Given the description of an element on the screen output the (x, y) to click on. 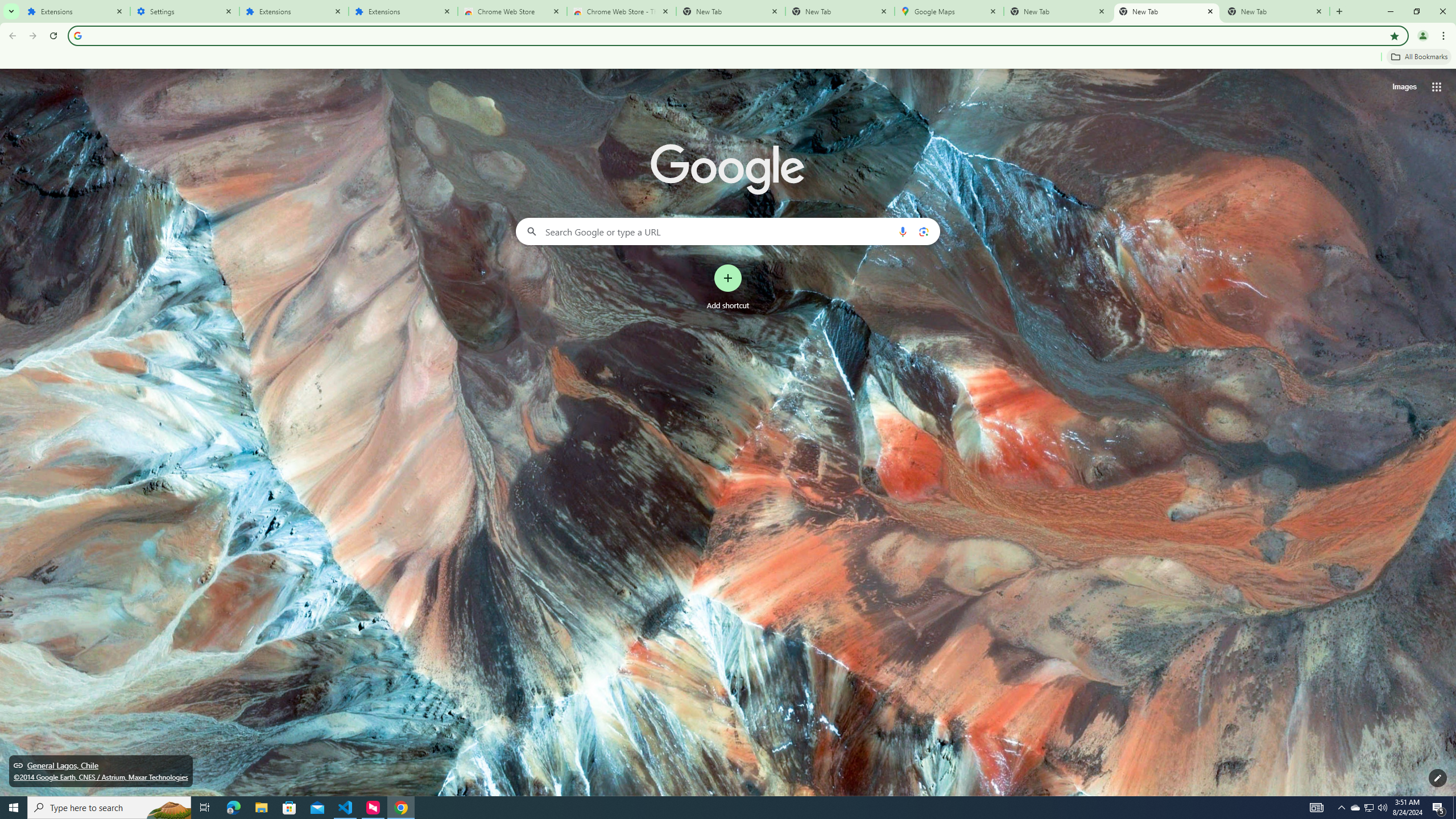
New Tab (839, 11)
New Tab (1275, 11)
Chrome Web Store (512, 11)
Google Maps (949, 11)
